Given the description of an element on the screen output the (x, y) to click on. 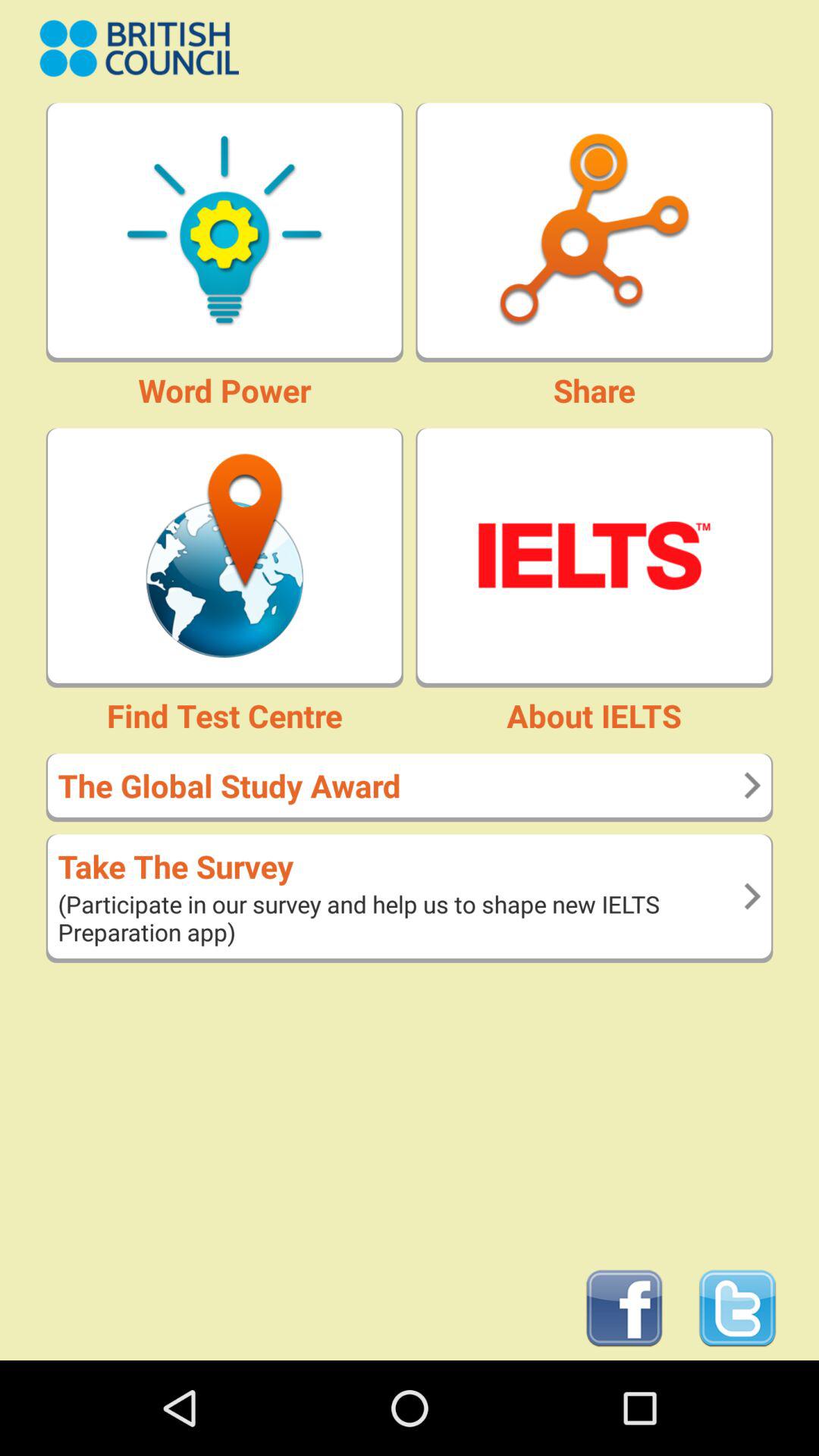
click on the forward symbol next to take the survey (752, 896)
